Given the description of an element on the screen output the (x, y) to click on. 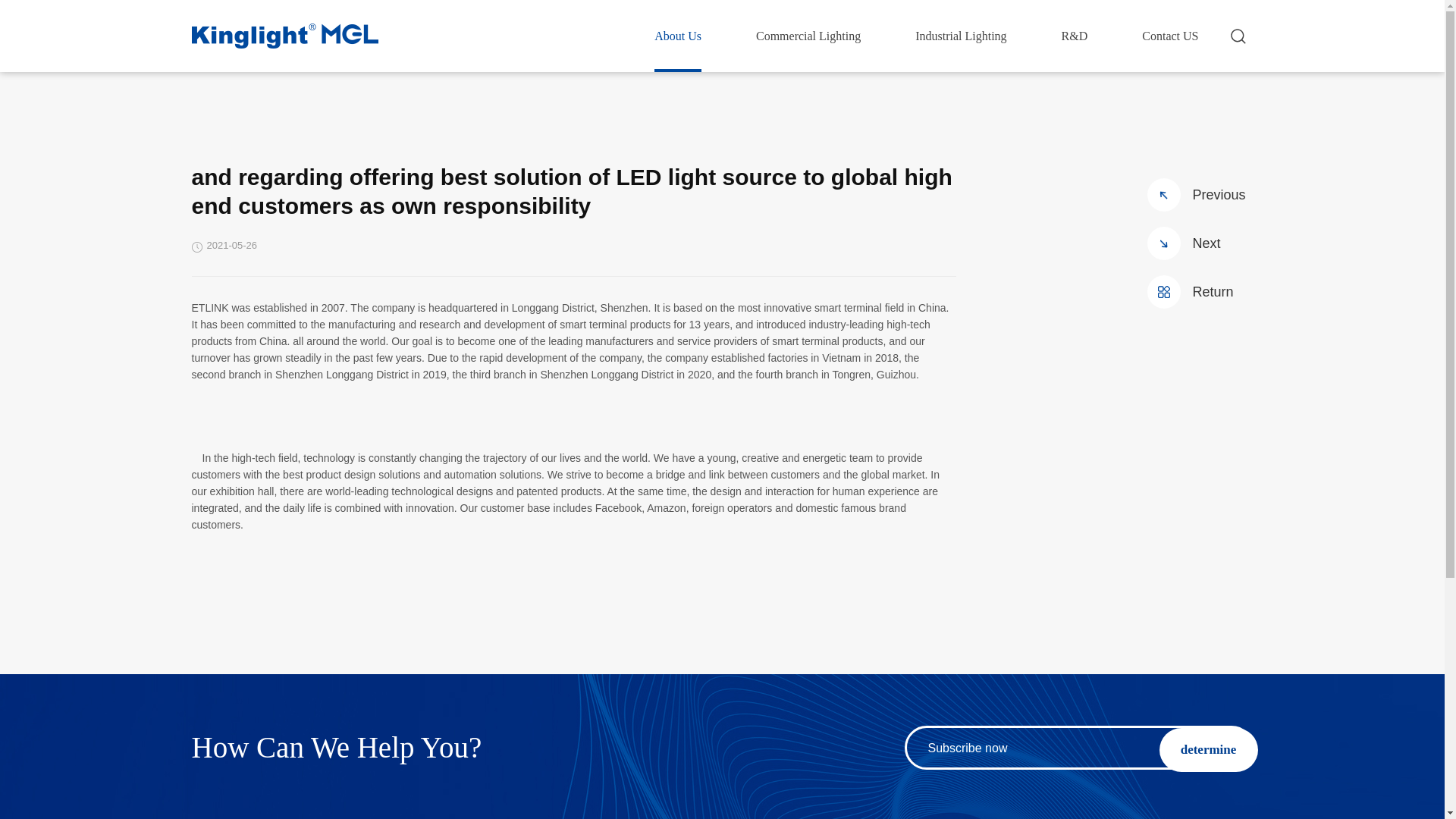
Return (1199, 291)
Commercial Lighting (807, 36)
Industrial Lighting (960, 36)
Next (1199, 243)
Previous (1199, 194)
